Given the description of an element on the screen output the (x, y) to click on. 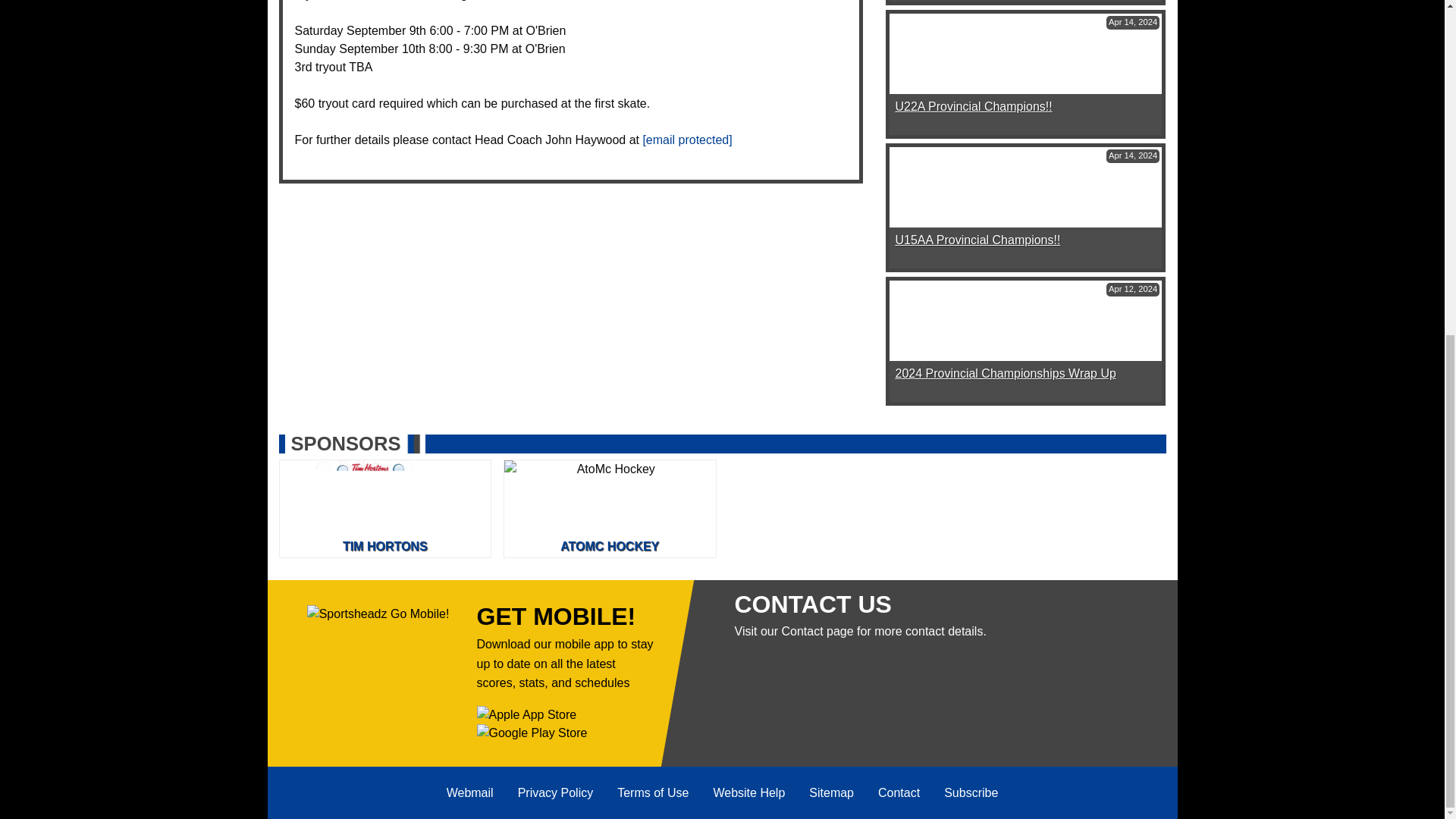
read more of this item (1005, 373)
read more of this item (977, 239)
Download the Sportsheadz App from the Apple App Store (526, 713)
read more of this item (973, 106)
Download the Sportsheadz App from the Google Play Store (531, 732)
